Given the description of an element on the screen output the (x, y) to click on. 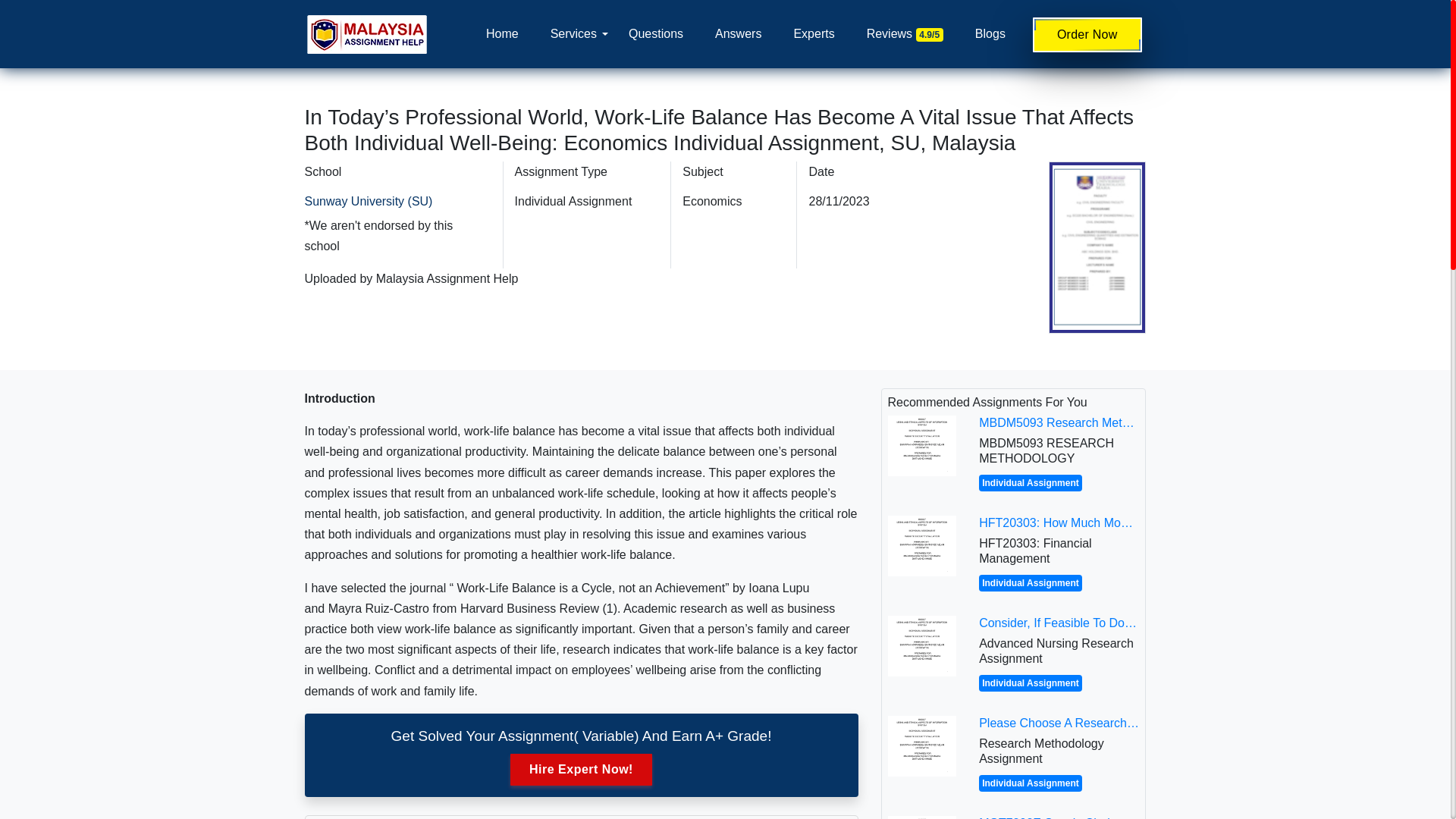
Home (501, 33)
Experts (813, 33)
Services (573, 33)
Order Now (1086, 34)
Questions (655, 33)
Hire Expert Now! (581, 769)
Answers (738, 33)
Blogs (989, 33)
